Given the description of an element on the screen output the (x, y) to click on. 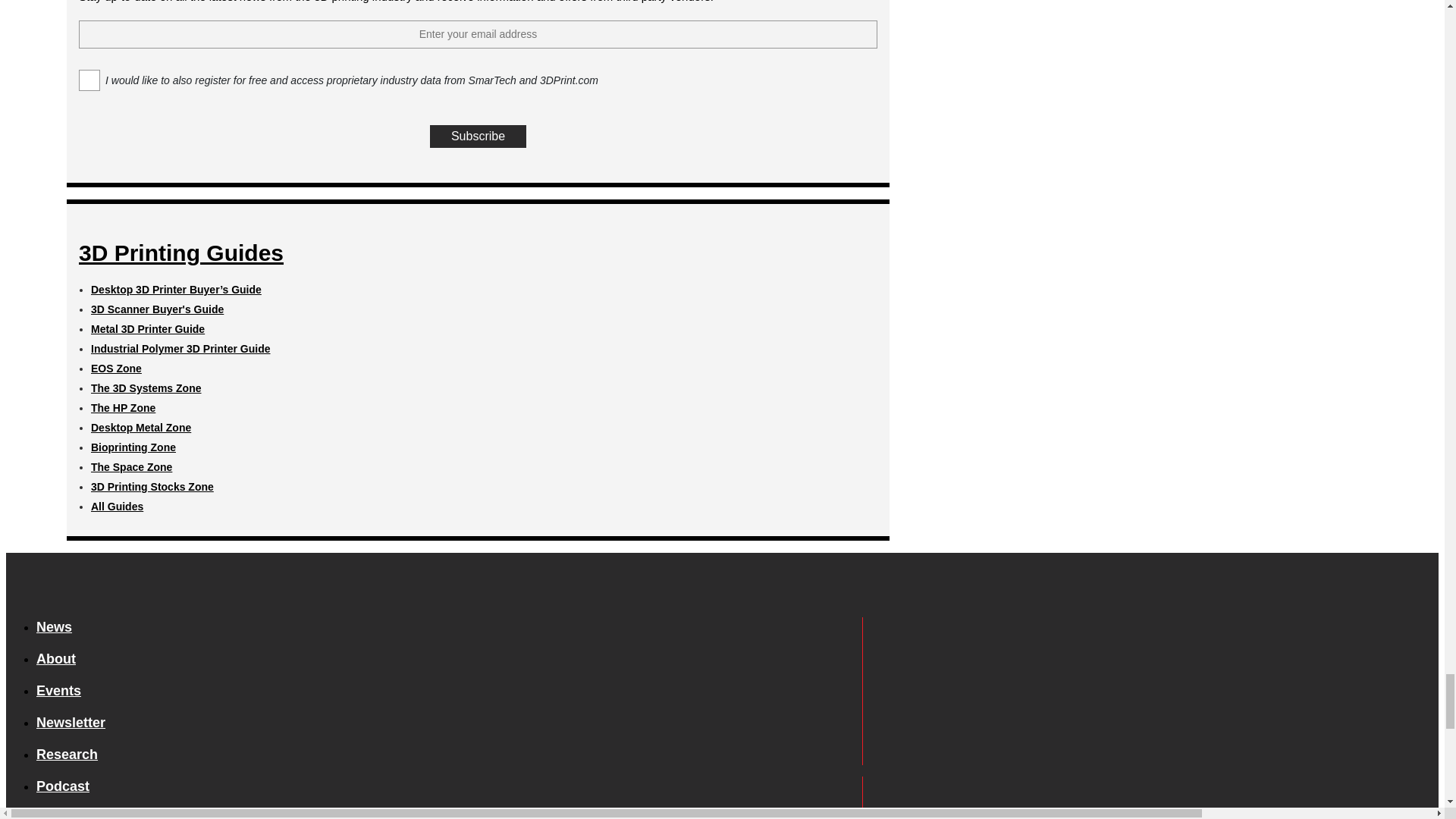
Subscribe (477, 136)
